Given the description of an element on the screen output the (x, y) to click on. 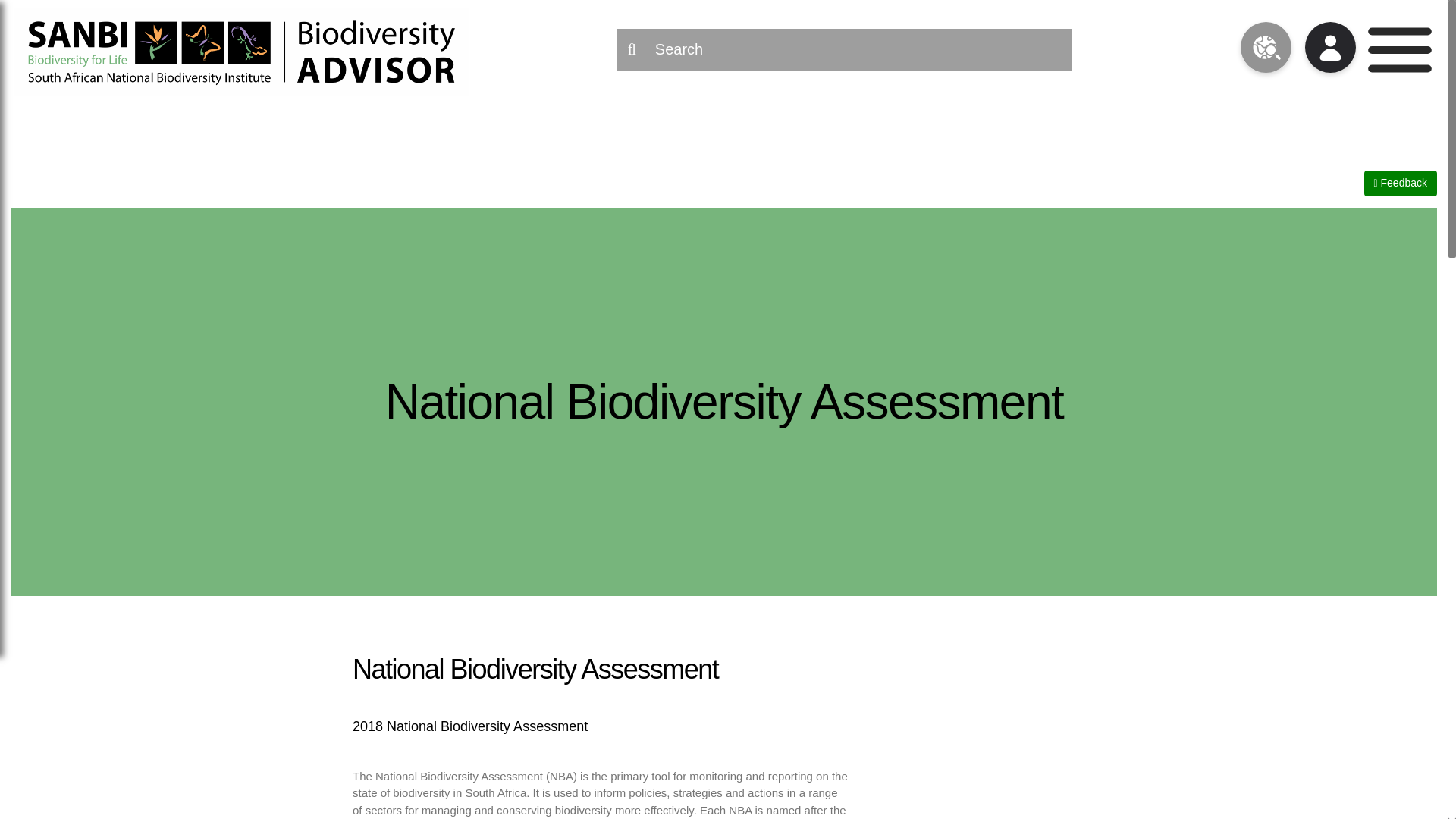
Feedback (1401, 182)
Login with a free account to access biodiversity resources (1330, 49)
Advanced Search Map Function (1265, 49)
